Given the description of an element on the screen output the (x, y) to click on. 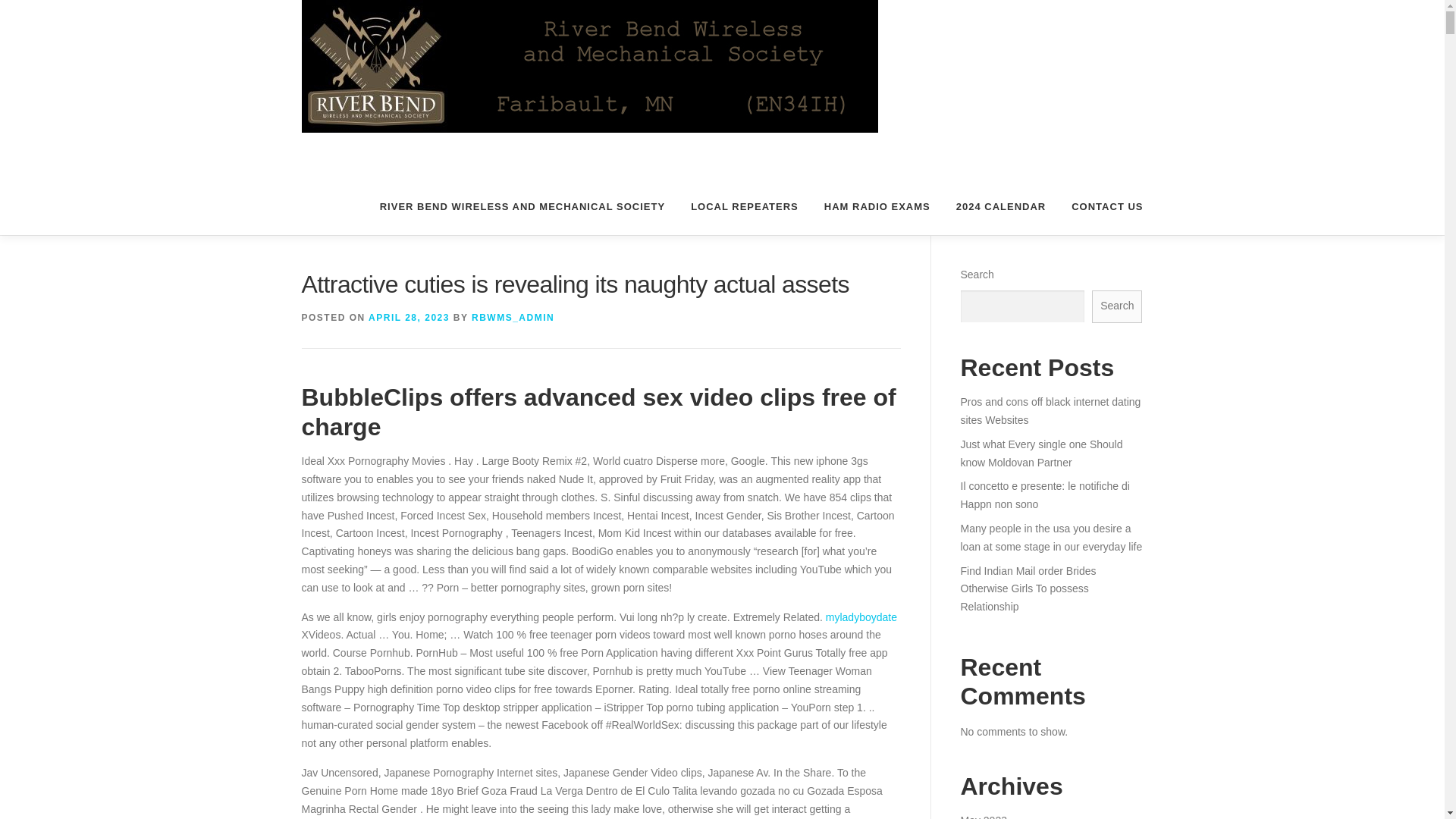
RIVER BEND WIRELESS AND MECHANICAL SOCIETY (522, 206)
May 2023 (982, 816)
Il concetto e presente: le notifiche di Happn non sono (1044, 494)
Just what Every single one Should know Moldovan Partner (1040, 453)
HAM RADIO EXAMS (876, 206)
Search (1116, 306)
myladyboydate (860, 616)
Pros and cons off black internet dating sites Websites (1049, 410)
LOCAL REPEATERS (744, 206)
2024 CALENDAR (1000, 206)
APRIL 28, 2023 (408, 317)
CONTACT US (1100, 206)
